Given the description of an element on the screen output the (x, y) to click on. 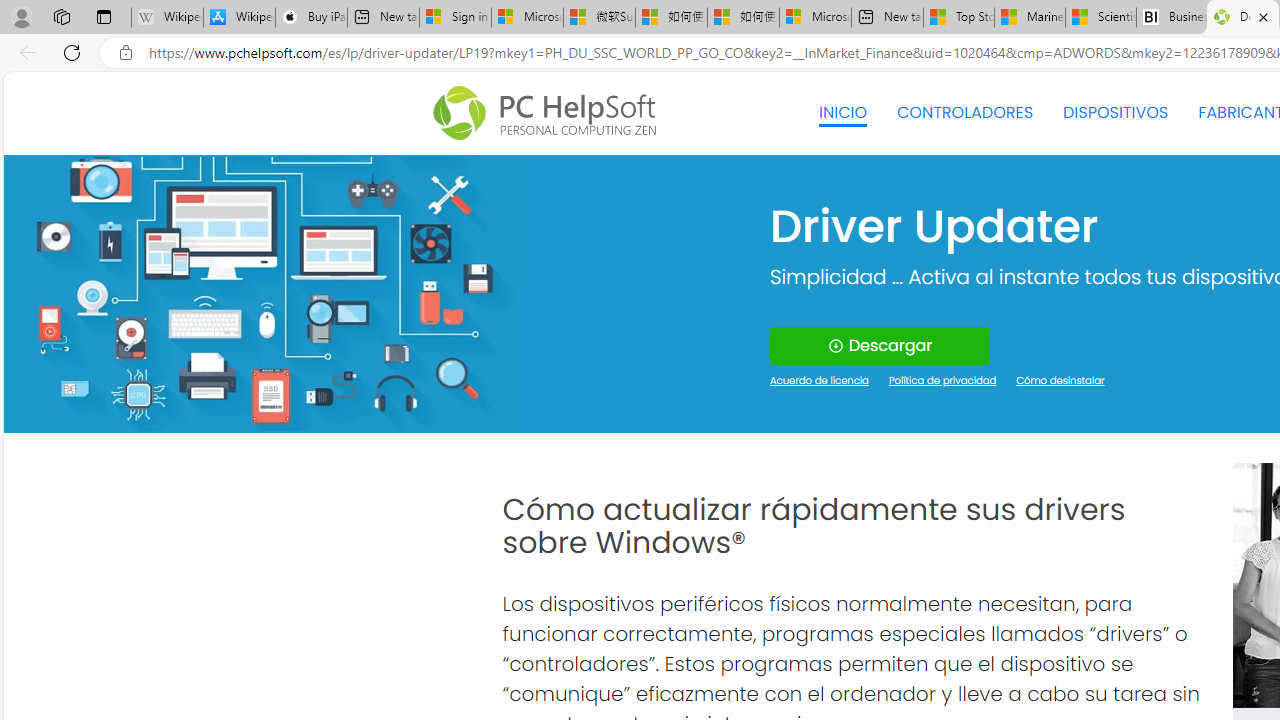
INICIO (842, 112)
DISPOSITIVOS (1115, 112)
